Given the description of an element on the screen output the (x, y) to click on. 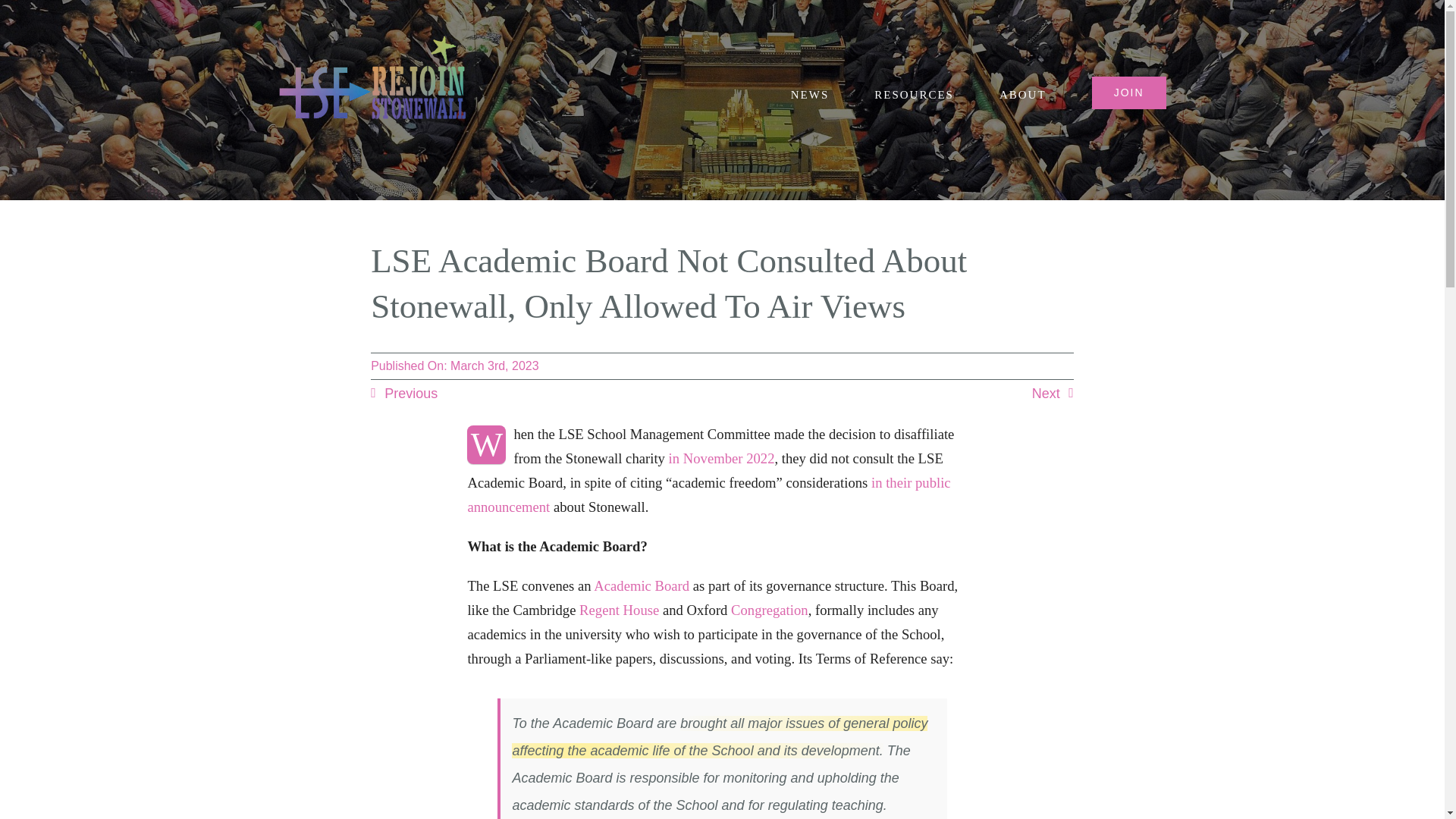
Regent House (619, 609)
Academic Board (641, 585)
Next (1053, 393)
JOIN (1129, 92)
ABOUT (1022, 92)
in November 2022 (721, 458)
NEWS (809, 92)
Congregation (769, 609)
RESOURCES (914, 92)
in their public announcement (708, 495)
Previous (404, 393)
